Given the description of an element on the screen output the (x, y) to click on. 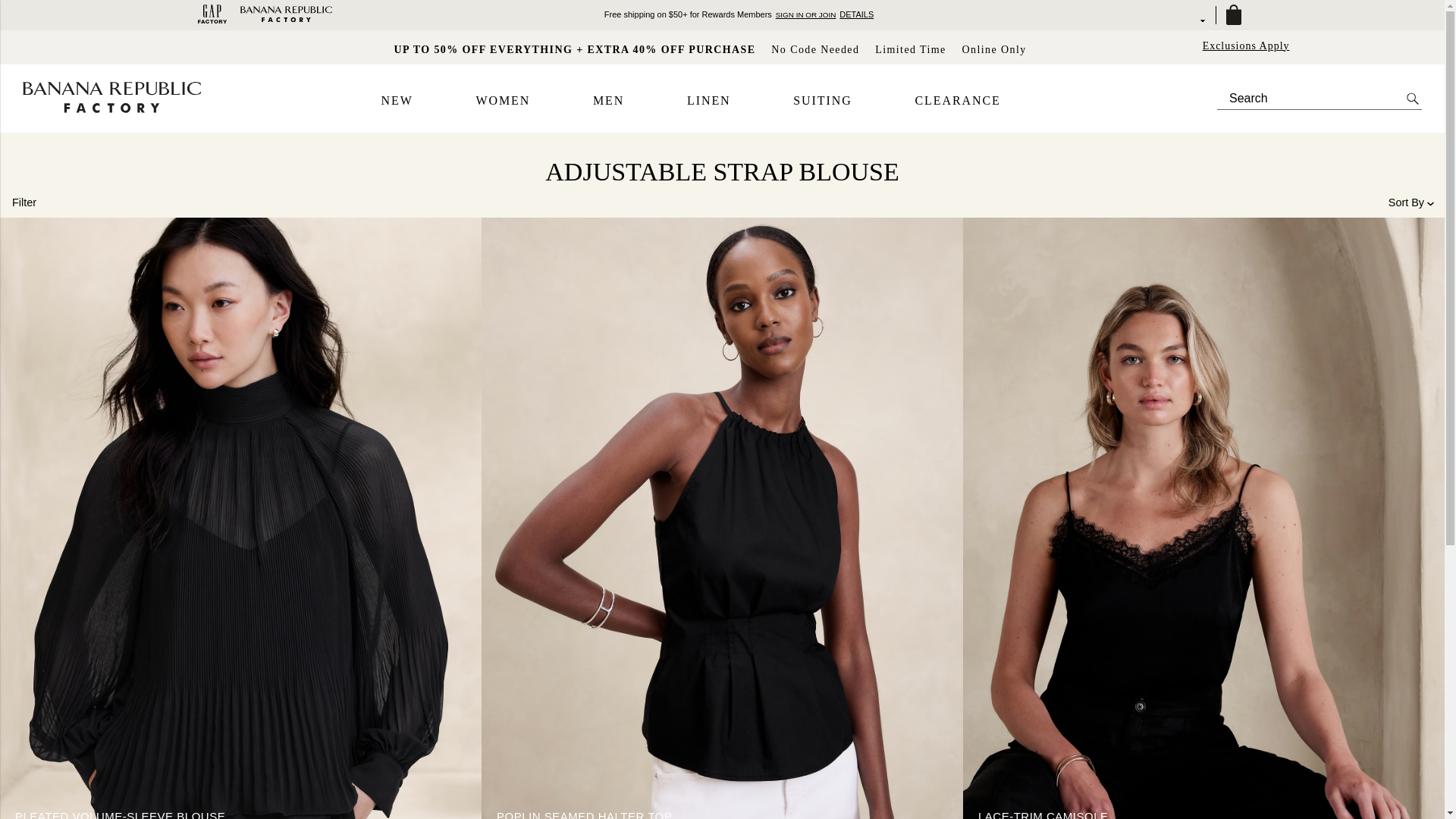
LINEN (708, 101)
SUITING (822, 101)
DETAILS (856, 13)
SIGN IN OR JOIN (805, 14)
Exclusions Apply (1246, 45)
WOMEN (502, 101)
NEW (396, 101)
Filter (24, 202)
Bag (1232, 15)
MEN (608, 101)
